Given the description of an element on the screen output the (x, y) to click on. 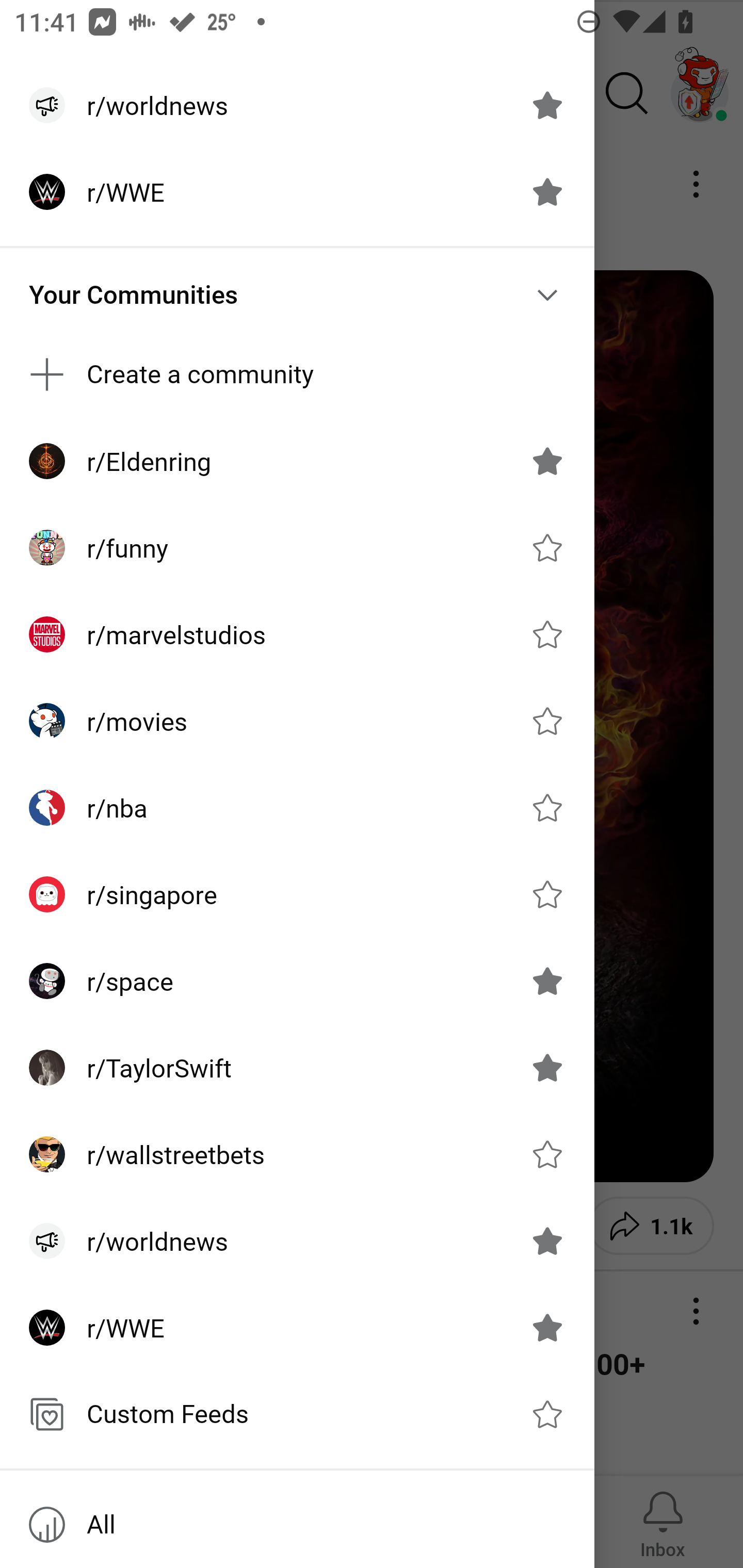
r/worldnews Unfavorite r/worldnews (297, 104)
Unfavorite r/worldnews (546, 104)
r/WWE Unfavorite r/WWE (297, 191)
Unfavorite r/WWE (546, 192)
Your Communities (297, 294)
Create a community (297, 373)
r/Eldenring Unfavorite r/Eldenring (297, 460)
Unfavorite r/Eldenring (546, 460)
r/funny Favorite r/funny (297, 547)
Favorite r/funny (546, 548)
r/marvelstudios Favorite r/marvelstudios (297, 634)
Favorite r/marvelstudios (546, 634)
r/movies Favorite r/movies (297, 721)
Favorite r/movies (546, 721)
r/nba Favorite r/nba (297, 808)
Favorite r/nba (546, 807)
r/singapore Favorite r/singapore (297, 894)
Favorite r/singapore (546, 894)
r/space Unfavorite r/space (297, 980)
Unfavorite r/space (546, 980)
r/TaylorSwift Unfavorite r/TaylorSwift (297, 1067)
Unfavorite r/TaylorSwift (546, 1067)
r/wallstreetbets Favorite r/wallstreetbets (297, 1154)
Favorite r/wallstreetbets (546, 1154)
r/worldnews Unfavorite r/worldnews (297, 1240)
Unfavorite r/worldnews (546, 1241)
r/WWE Unfavorite r/WWE (297, 1327)
Unfavorite r/WWE (546, 1327)
Custom Feeds (297, 1414)
All (297, 1524)
